Given the description of an element on the screen output the (x, y) to click on. 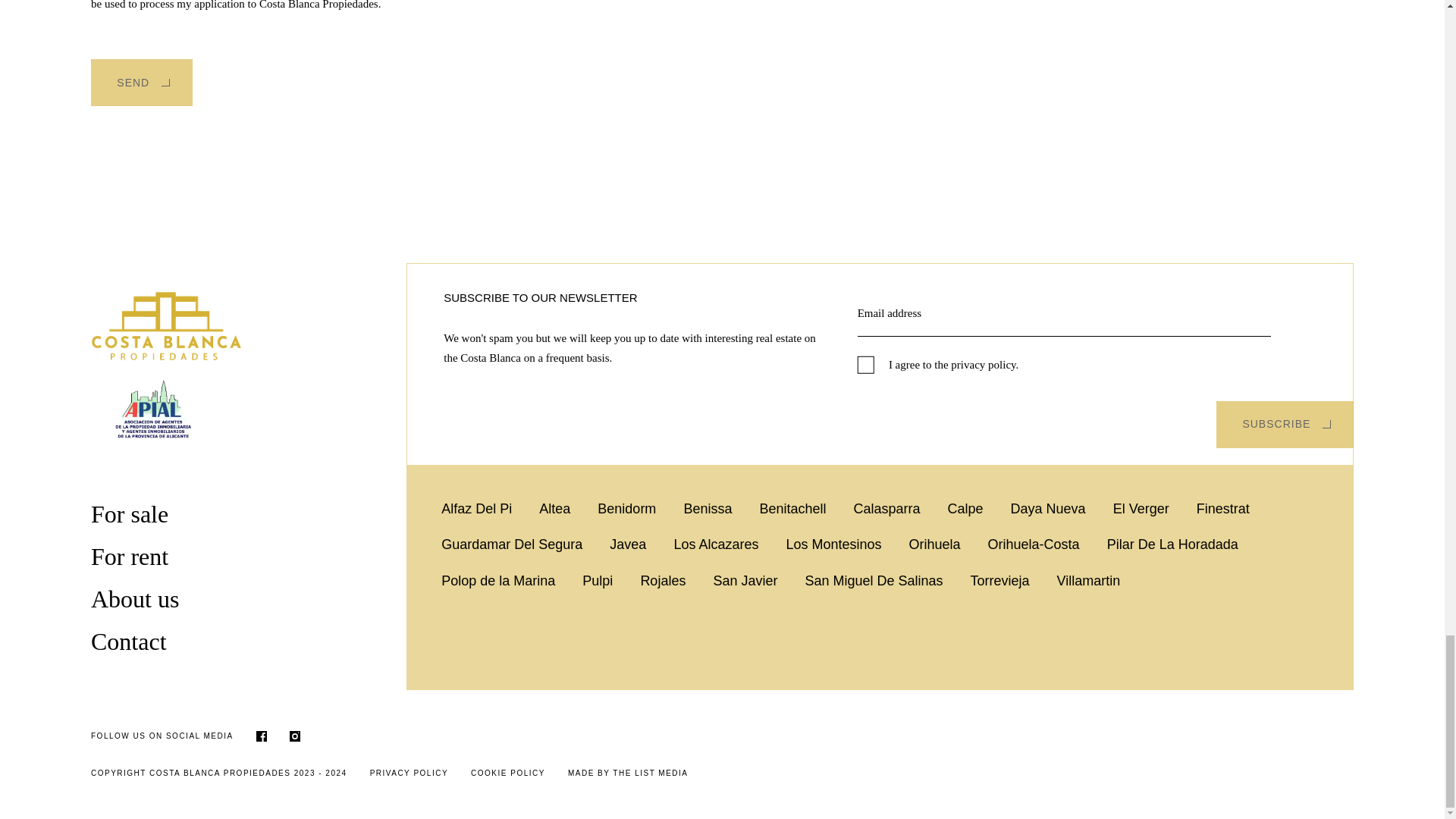
1 (866, 364)
